Given the description of an element on the screen output the (x, y) to click on. 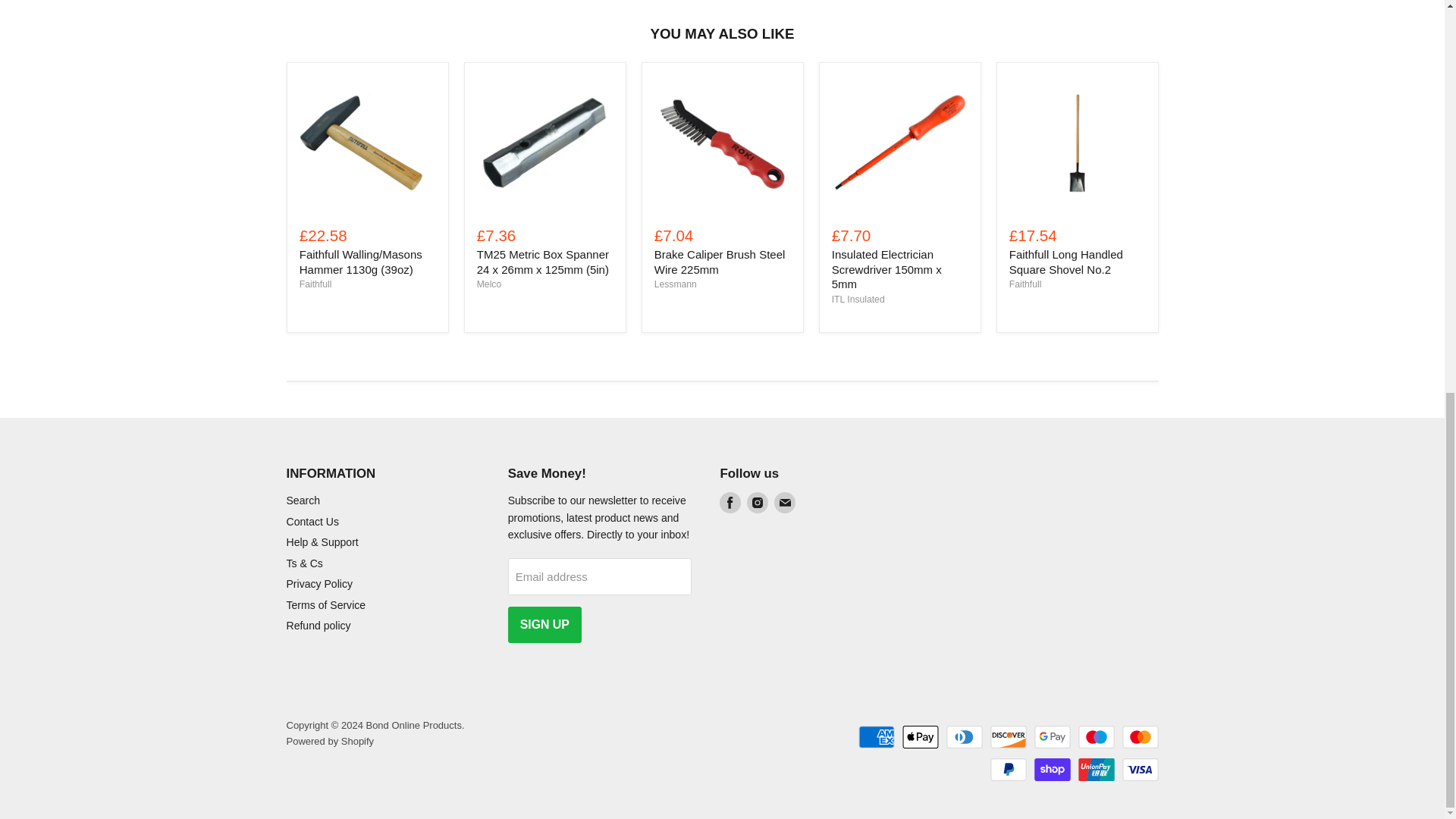
Email (784, 502)
Faithfull (315, 284)
Melco (488, 284)
Facebook (730, 502)
Lessmann (675, 284)
Instagram (757, 502)
ITL Insulated (858, 299)
Faithfull (1025, 284)
